Given the description of an element on the screen output the (x, y) to click on. 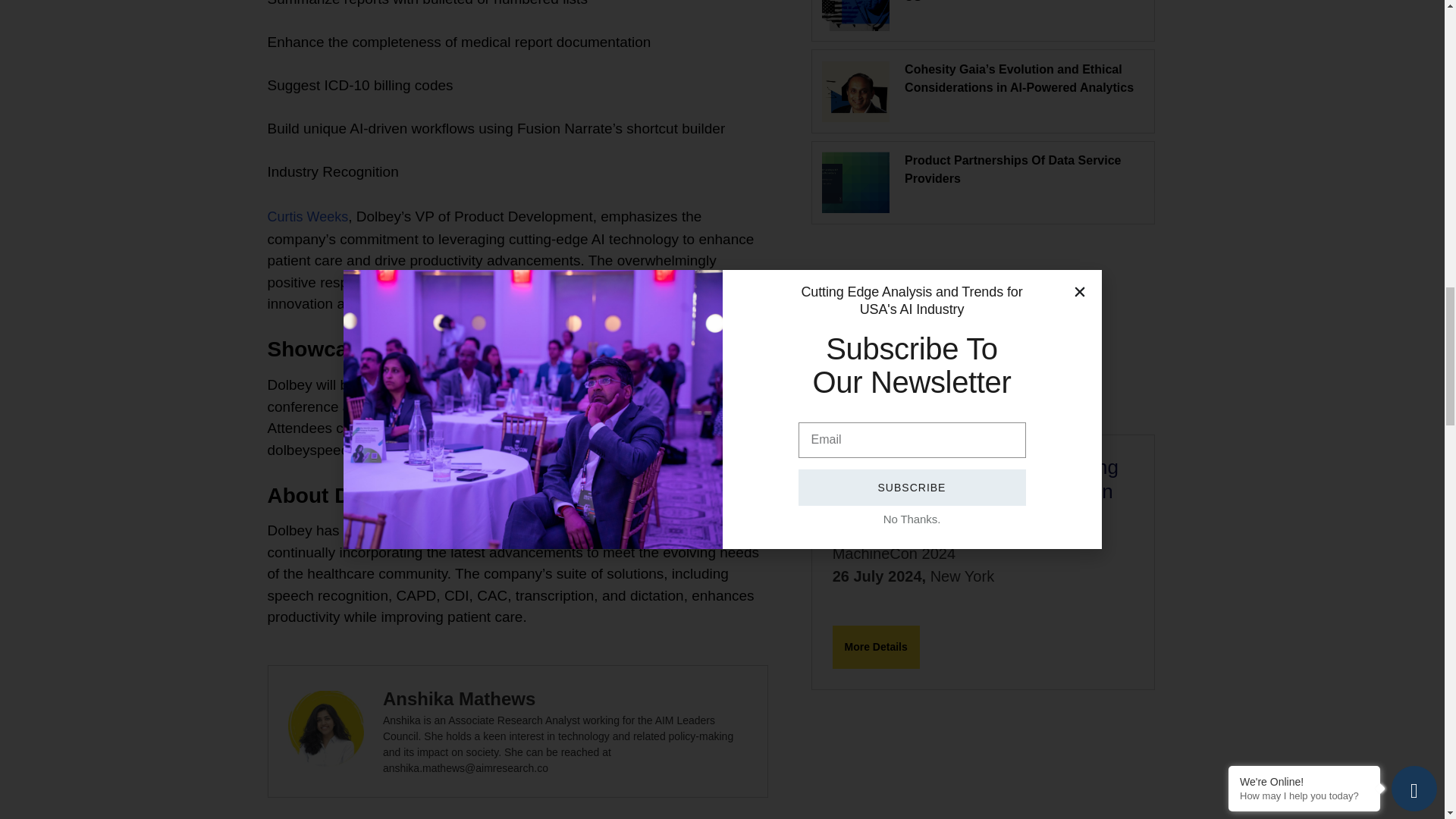
Curtis Weeks (306, 216)
More Details (876, 647)
Top AI startups Solving Mental Health in US (1019, 1)
Product Partnerships Of Data Service Providers (1012, 169)
